Given the description of an element on the screen output the (x, y) to click on. 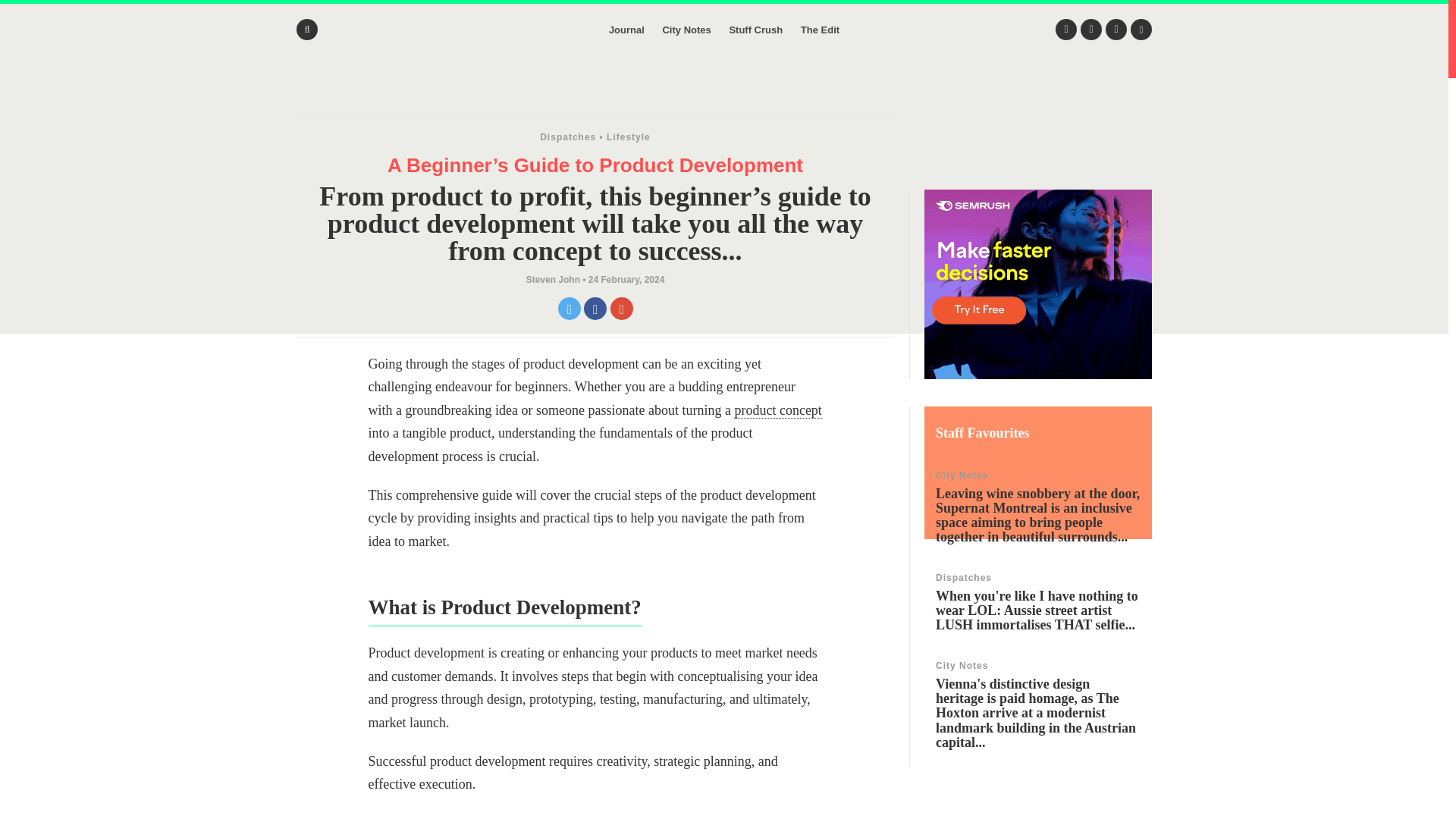
Facebook (1091, 29)
Instagram (1115, 29)
Stuff Crush (756, 30)
Supernat, Hochelaga-Maisonneuve (1038, 506)
product concept (777, 410)
Twitter (1066, 29)
LUSH, Kim Kardashian Nude Selfie (1038, 601)
Pinterest (1141, 29)
City Notes (686, 30)
